Given the description of an element on the screen output the (x, y) to click on. 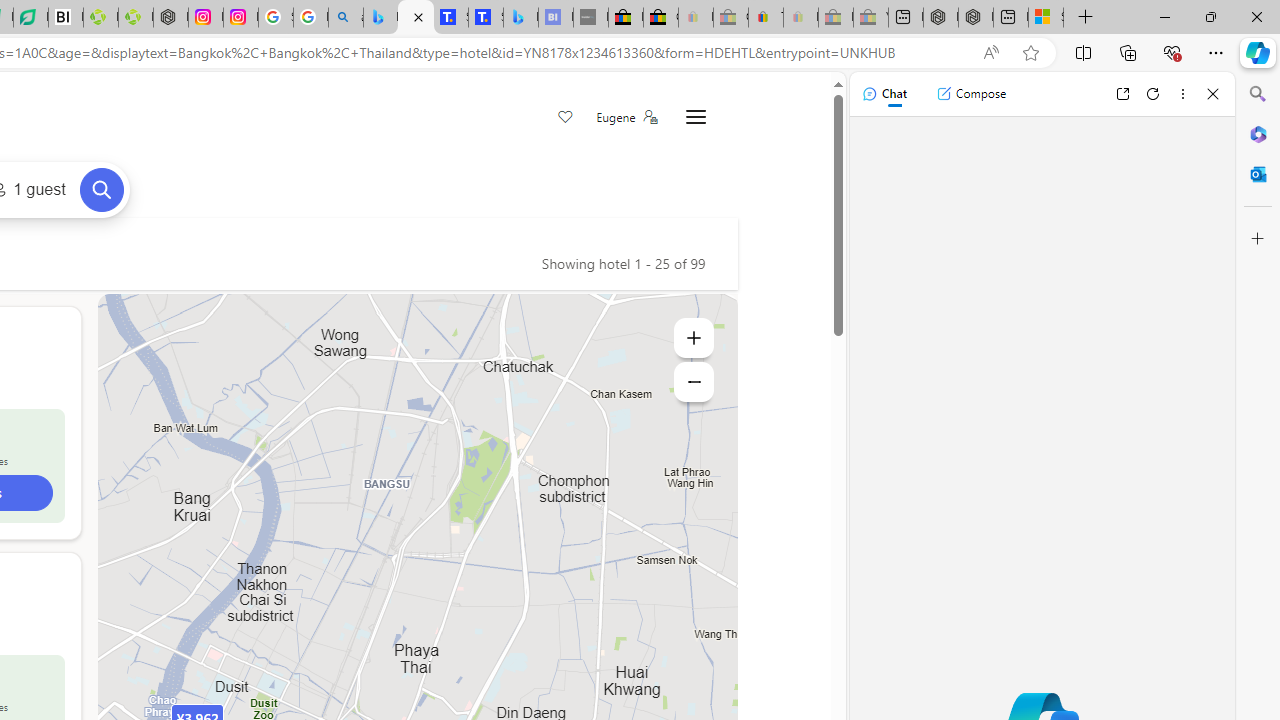
Microsoft Bing Travel - Shangri-La Hotel Bangkok (520, 17)
Nvidia va a poner a prueba la paciencia de los inversores (65, 17)
